Given the description of an element on the screen output the (x, y) to click on. 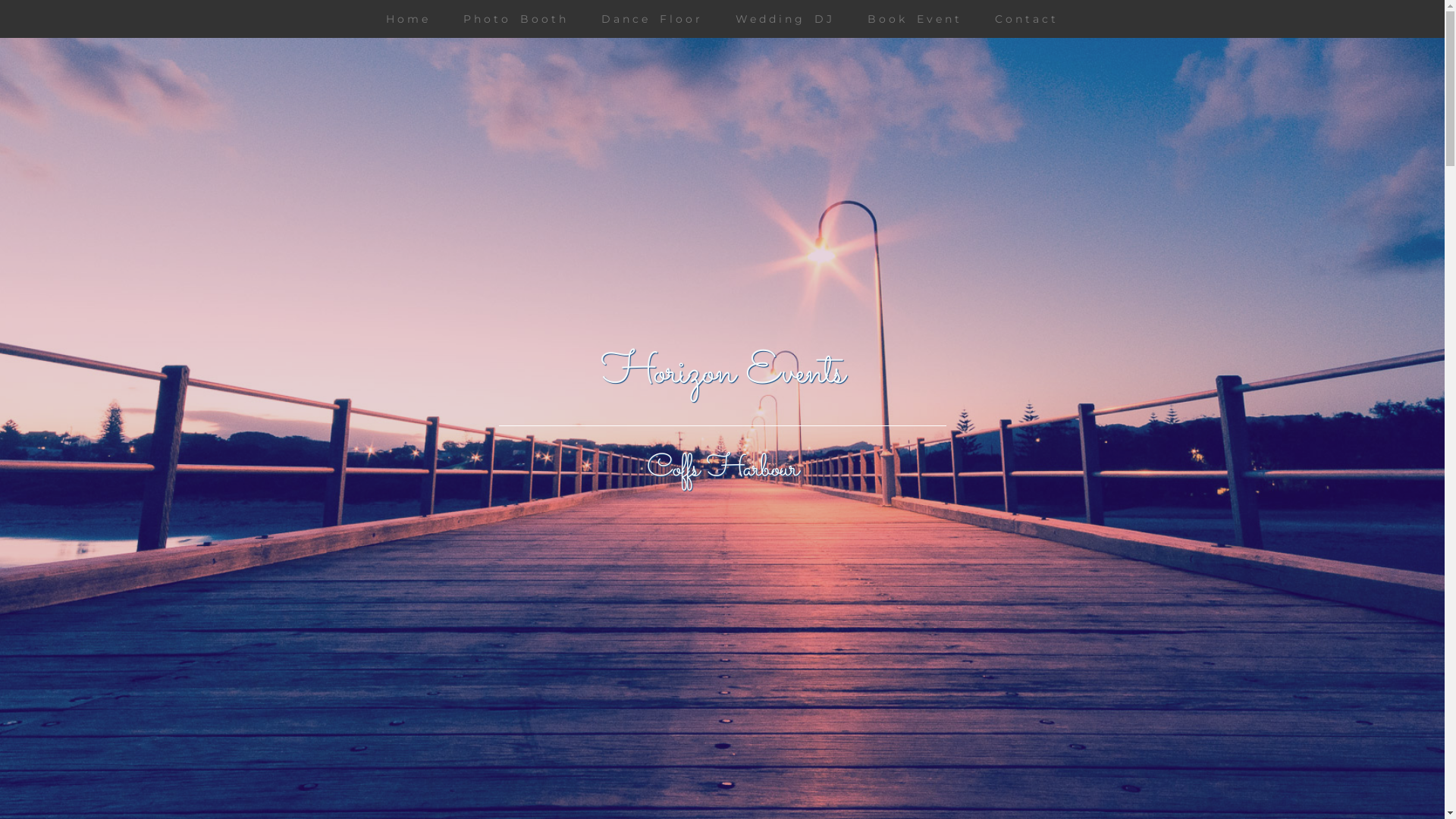
Contact Element type: text (1026, 18)
Dance Floor Element type: text (651, 18)
Book Event Element type: text (914, 18)
Home Element type: text (408, 18)
Wedding DJ Element type: text (785, 18)
Photo Booth Element type: text (515, 18)
